Given the description of an element on the screen output the (x, y) to click on. 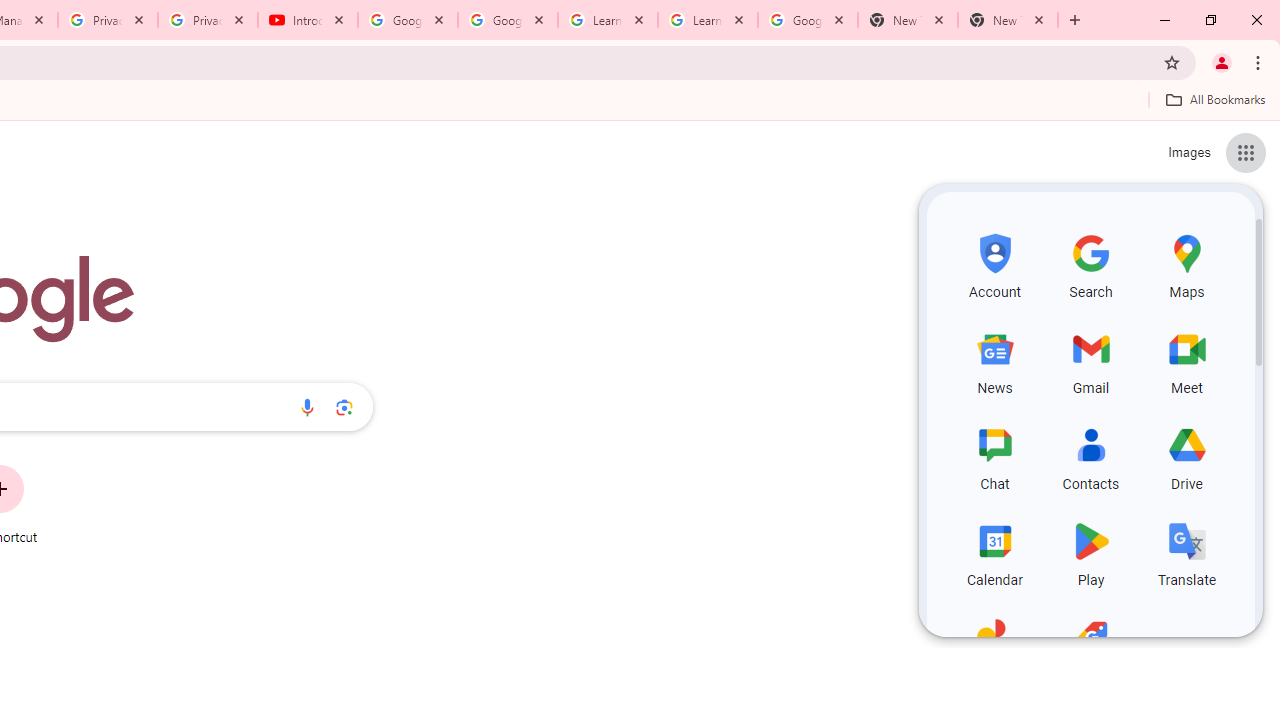
News, row 2 of 5 and column 1 of 3 in the first section (994, 359)
Calendar, row 4 of 5 and column 1 of 3 in the first section (994, 551)
Search by image (344, 407)
All Bookmarks (1215, 99)
